Given the description of an element on the screen output the (x, y) to click on. 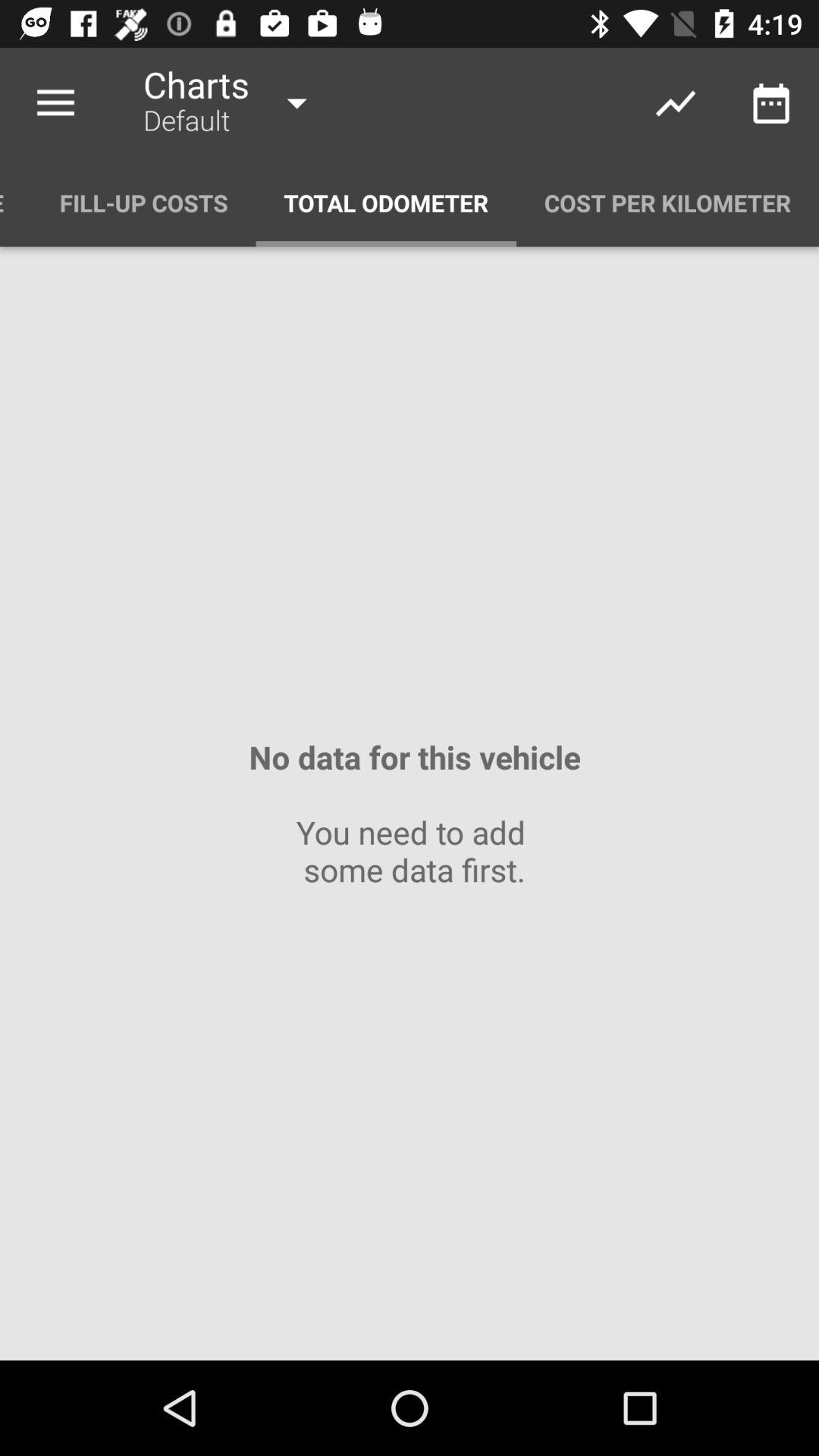
turn off item above the cost per kilometer (771, 103)
